Given the description of an element on the screen output the (x, y) to click on. 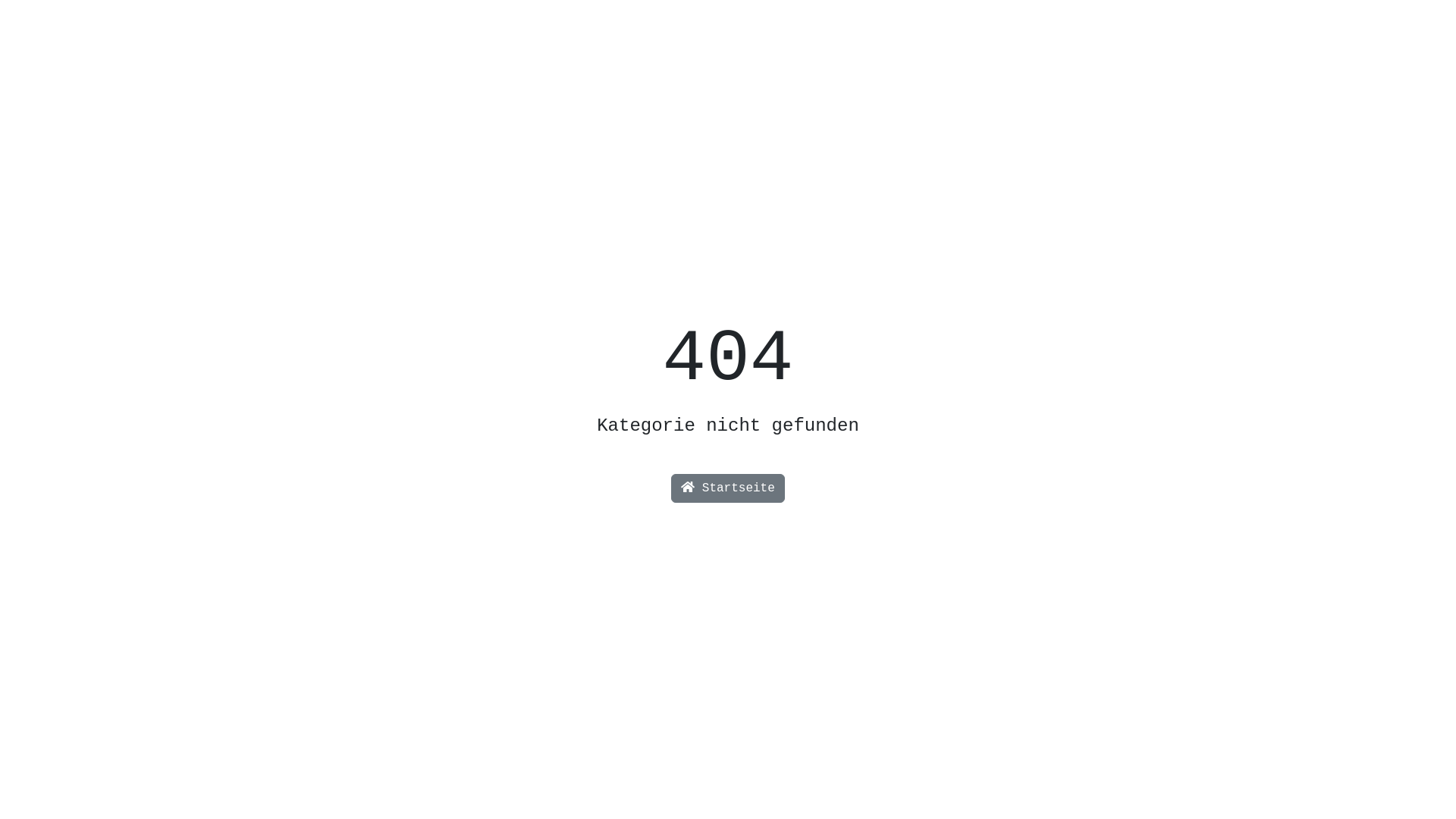
Startseite Element type: text (727, 487)
